Given the description of an element on the screen output the (x, y) to click on. 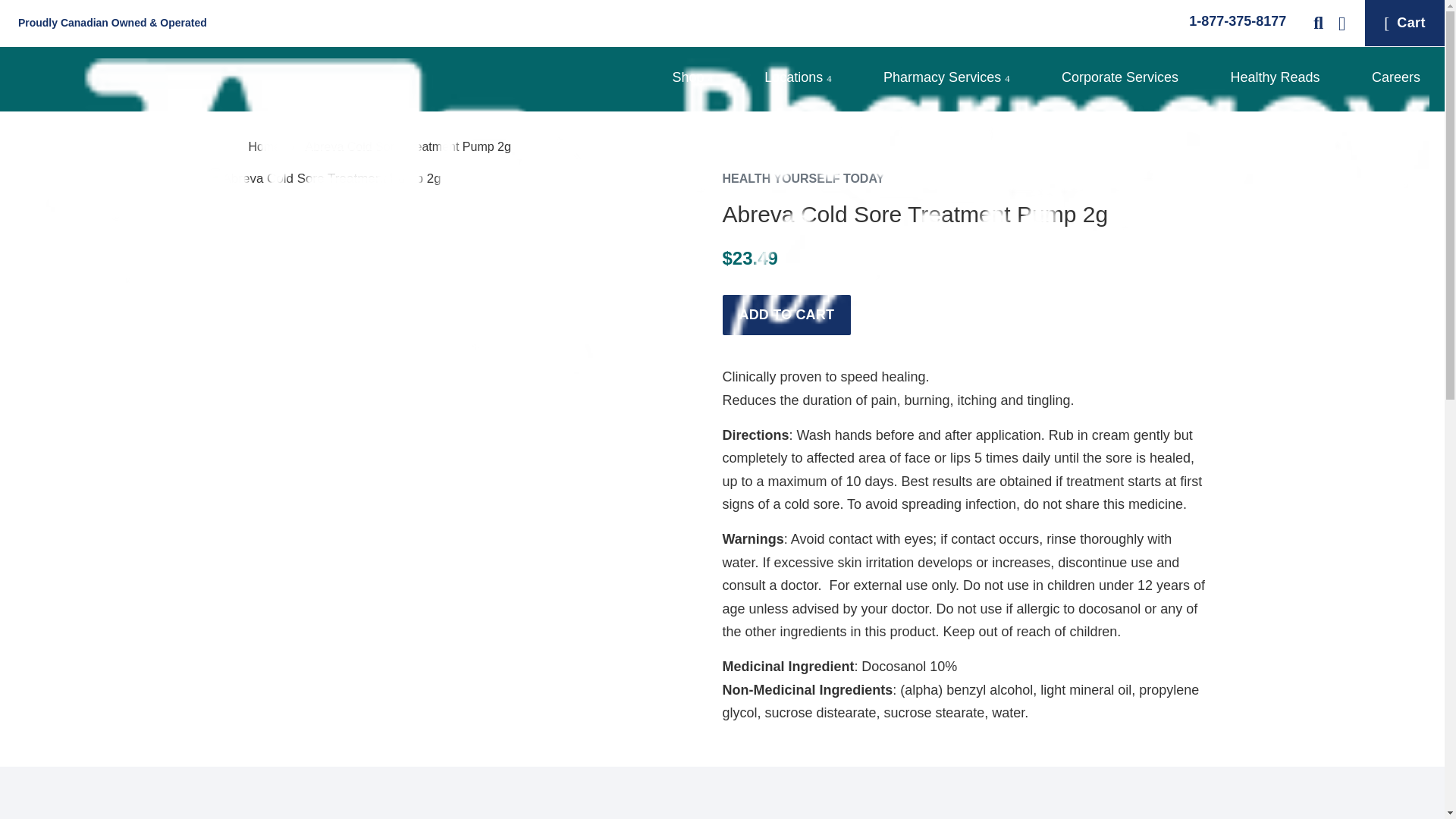
1-877-375-8177 (1229, 21)
Shop (691, 79)
Locations (797, 79)
Back to the frontpage (266, 146)
